Given the description of an element on the screen output the (x, y) to click on. 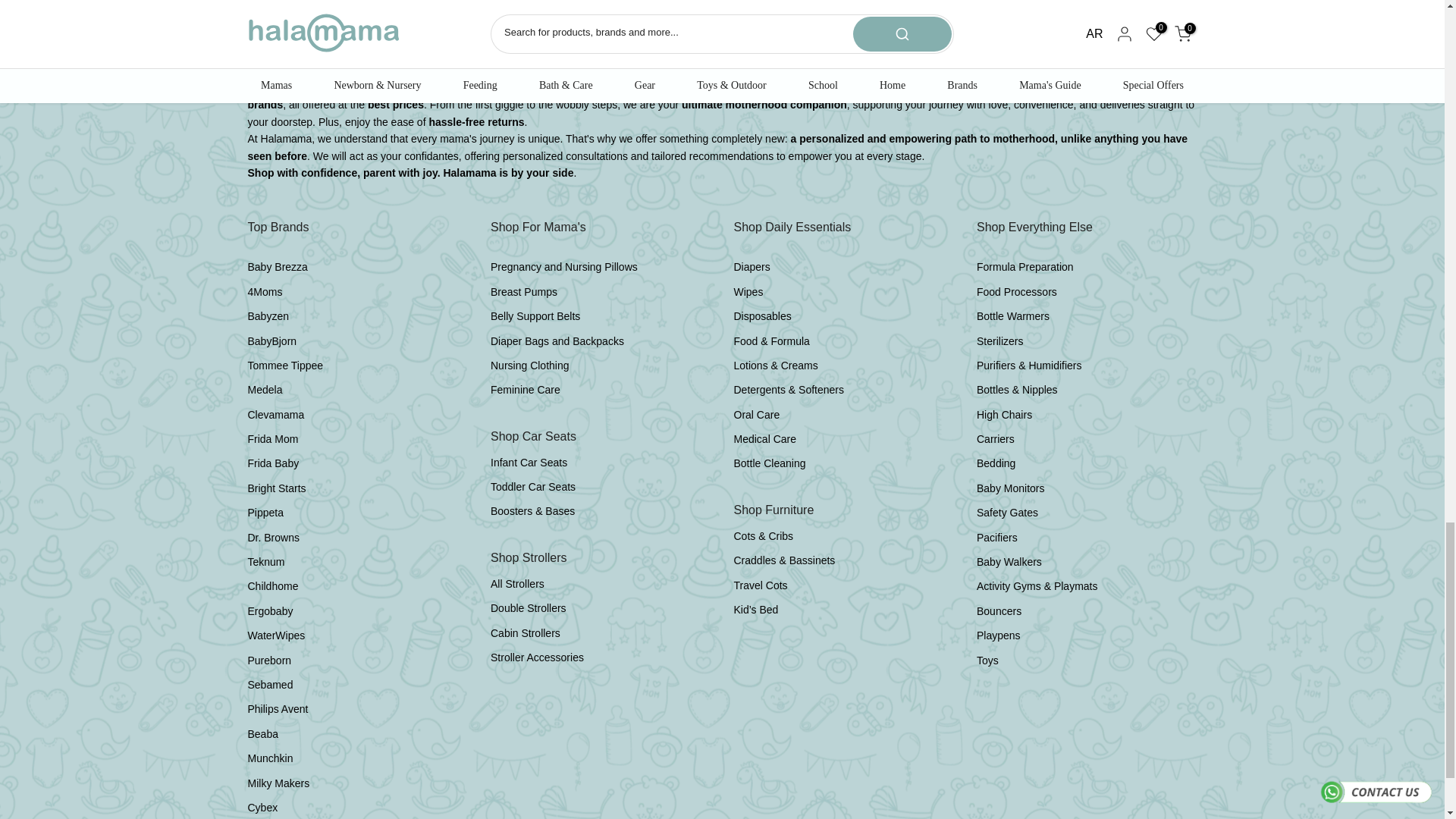
X (1045, 22)
Linkedin (1098, 22)
TikTok (1181, 22)
Youtube (1072, 22)
Snapchat (1126, 22)
Facebook (989, 22)
Threads (1154, 22)
instagram (1017, 22)
